Given the description of an element on the screen output the (x, y) to click on. 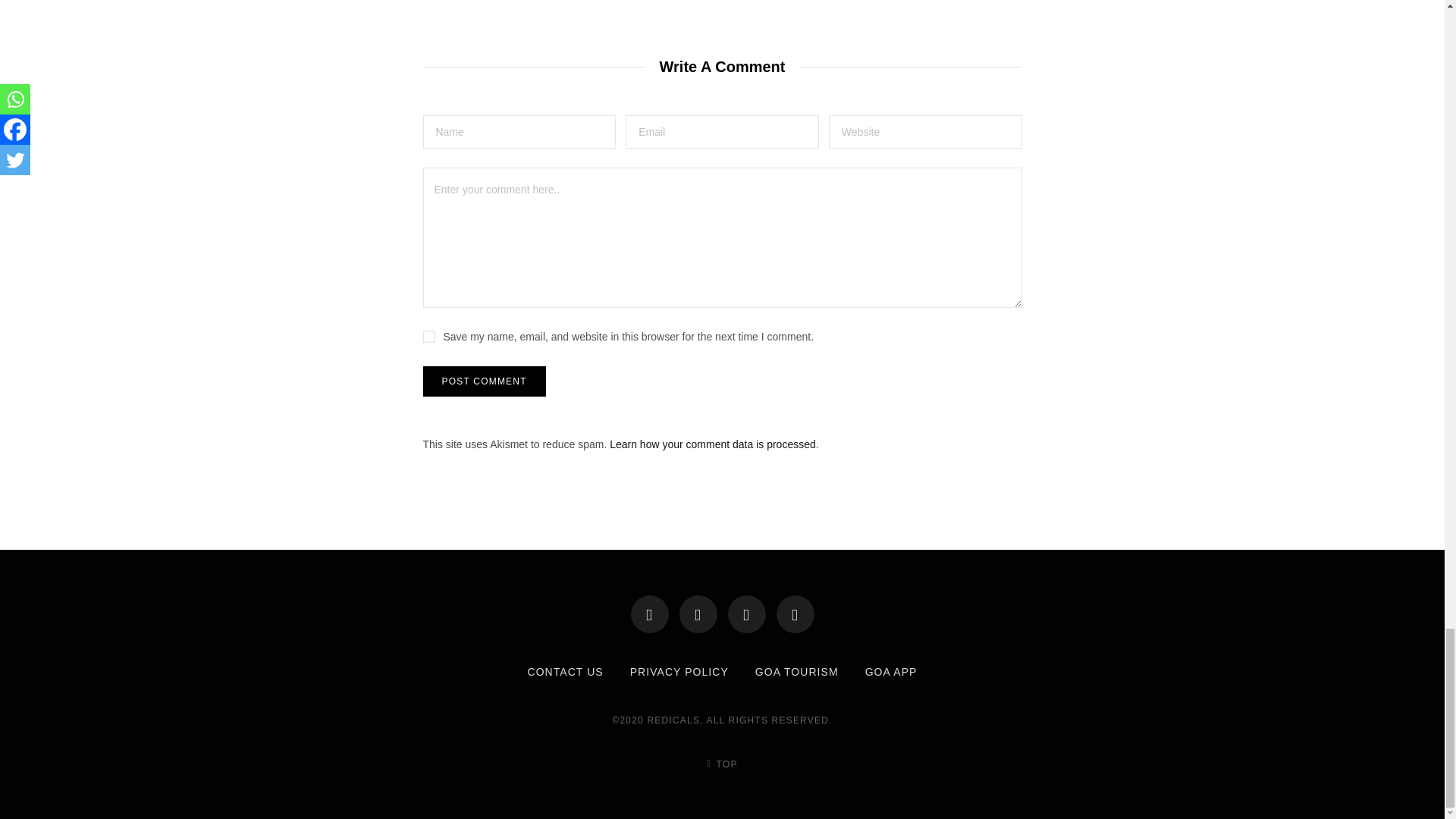
Post Comment (484, 381)
yes (429, 336)
